Given the description of an element on the screen output the (x, y) to click on. 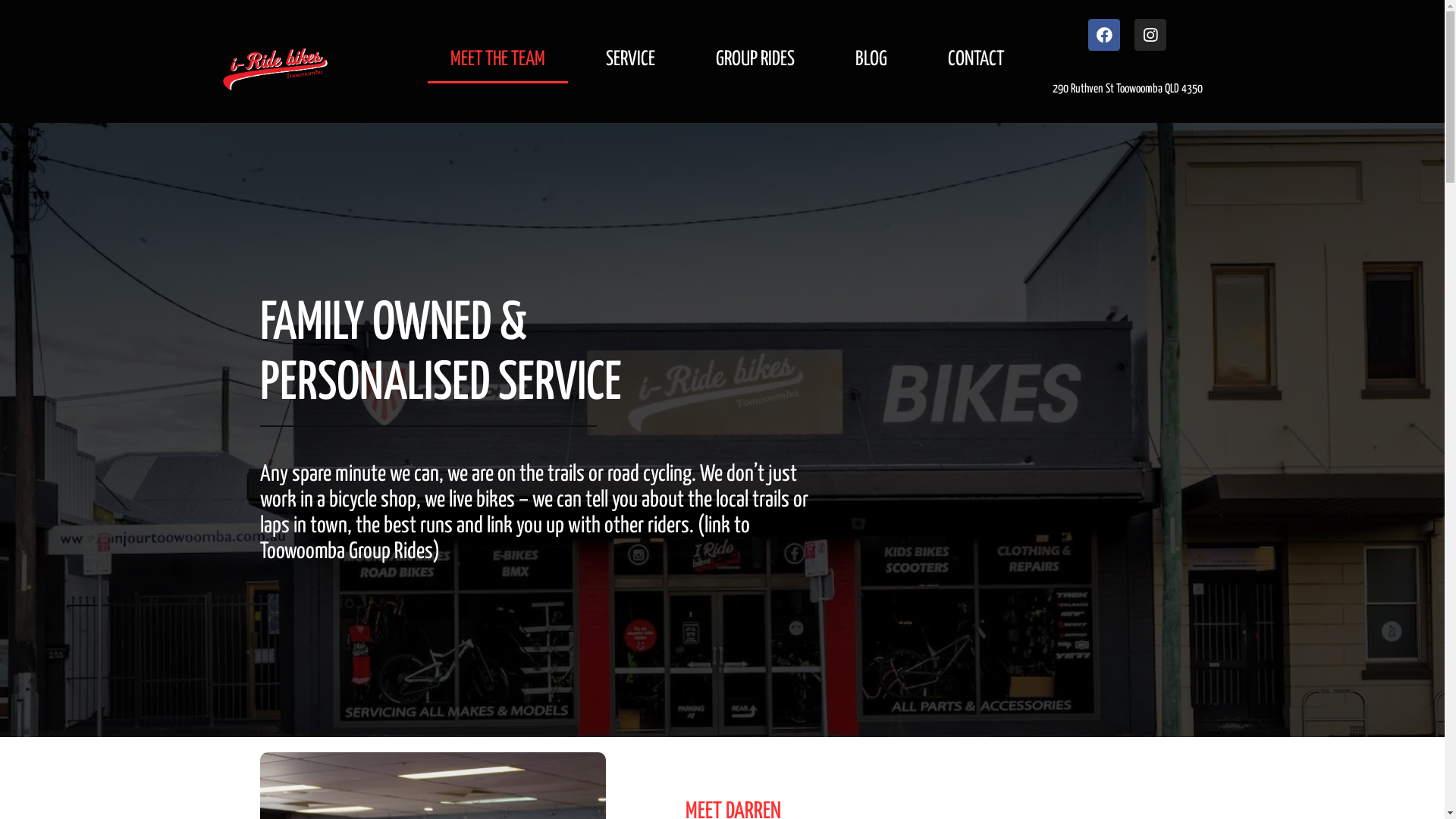
GROUP RIDES Element type: text (755, 59)
BLOG Element type: text (871, 59)
CONTACT Element type: text (975, 59)
MEET THE TEAM Element type: text (497, 59)
SERVICE Element type: text (630, 59)
